Given the description of an element on the screen output the (x, y) to click on. 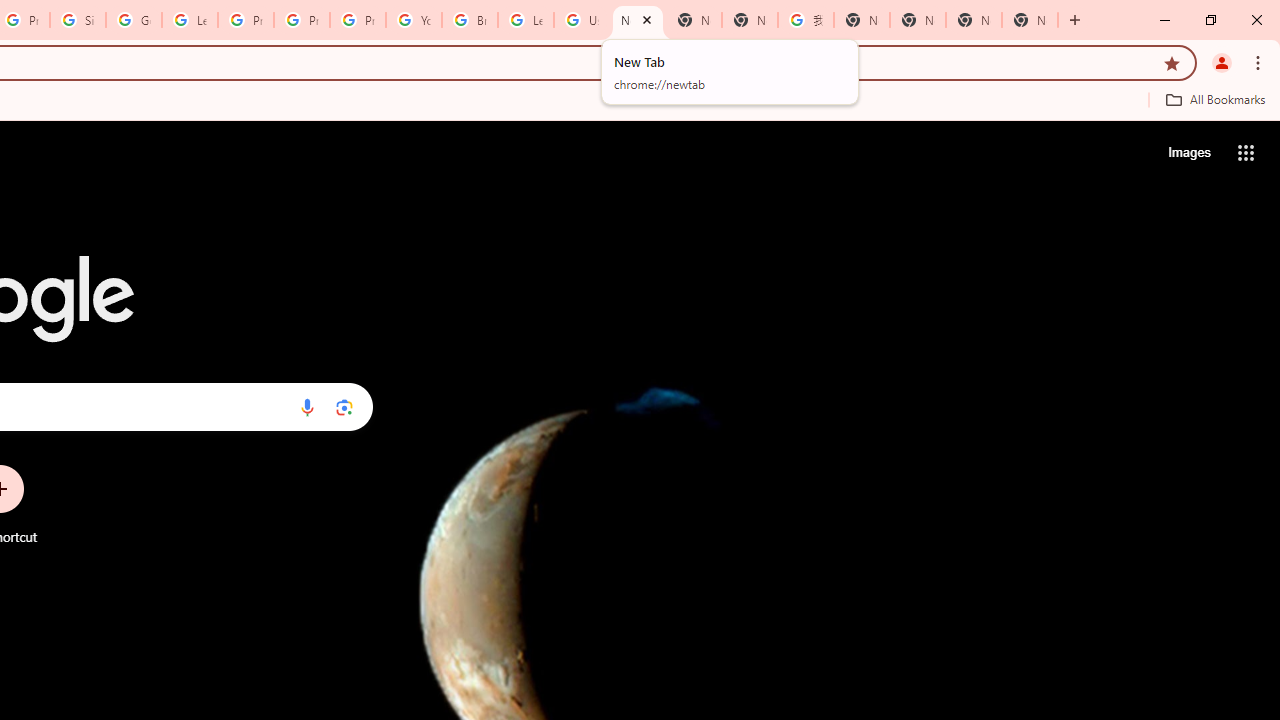
New Tab (1030, 20)
New Tab (693, 20)
Privacy Help Center - Policies Help (245, 20)
